Given the description of an element on the screen output the (x, y) to click on. 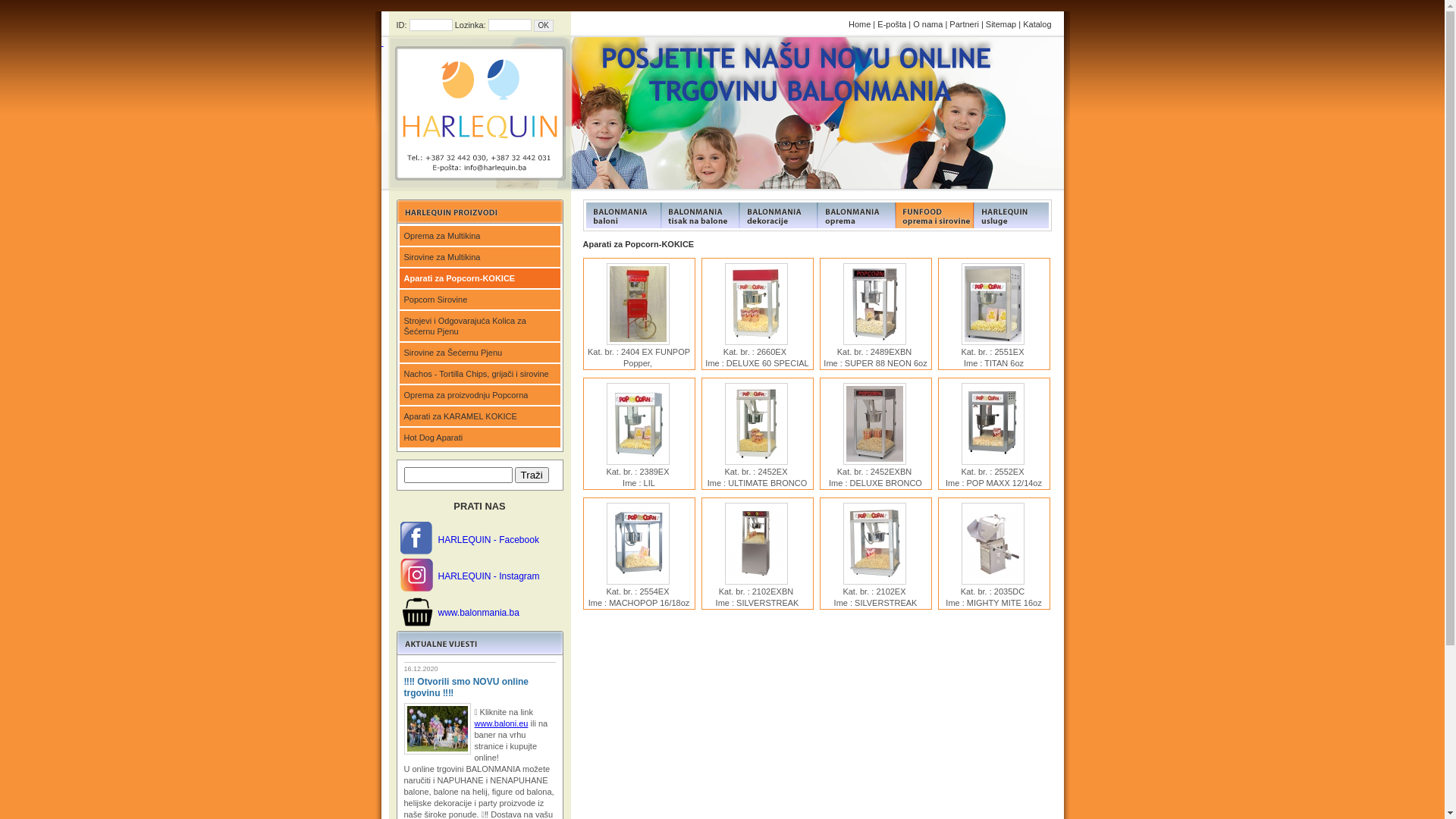
FUNFOOD products Element type: text (777, 215)
FUNFOOD products Element type: text (700, 215)
FUNFOOD products Element type: text (1012, 215)
DELUXE 60 SPECIAL 6oz Element type: hover (755, 304)
Home Element type: text (859, 23)
O nama Element type: text (927, 23)
aparat za KOKICE Element type: hover (637, 304)
POP MAXX 12/14oz Element type: hover (992, 423)
SUPER 88 NEON 6oz Element type: hover (874, 304)
Sirovine za Multikina Element type: text (478, 257)
MACHOPOP 16/18oz Element type: hover (637, 543)
Popcorn Sirovine Element type: text (478, 299)
Oprema za Multikina Element type: text (478, 235)
TITAN 6oz Element type: hover (992, 304)
Oprema za proizvodnju Popcorna Element type: text (478, 395)
DELUXE BRONCO POP NEON 8oz Element type: hover (874, 423)
SILVERSTREAK DELUXE 14oz Element type: hover (874, 543)
  Element type: text (475, 112)
Katalog Element type: text (1036, 23)
HARLEQUIN - Facebook Element type: text (488, 539)
Aparati za KARAMEL KOKICE Element type: text (478, 416)
LIL Element type: hover (637, 423)
www.baloni.eu Element type: text (501, 723)
Hot Dog Aparati Element type: text (478, 437)
HARLEQUIN - Instagram Element type: text (488, 576)
FUNFOOD products Element type: text (621, 215)
Partneri Element type: text (964, 23)
MIGHTY MITE 16oz Element type: hover (992, 543)
SILVERSTREAK DELUXE NEON 14oz Element type: hover (755, 543)
FUNFOOD products Element type: text (933, 215)
FUNFOOD products Element type: text (856, 215)
ULTIMATE BRONCO POP 8oz Element type: hover (755, 423)
www.balonmania.ba Element type: text (478, 612)
Aparati za Popcorn-KOKICE Element type: text (478, 278)
Sitemap Element type: text (1000, 23)
OK Element type: text (543, 25)
